Given the description of an element on the screen output the (x, y) to click on. 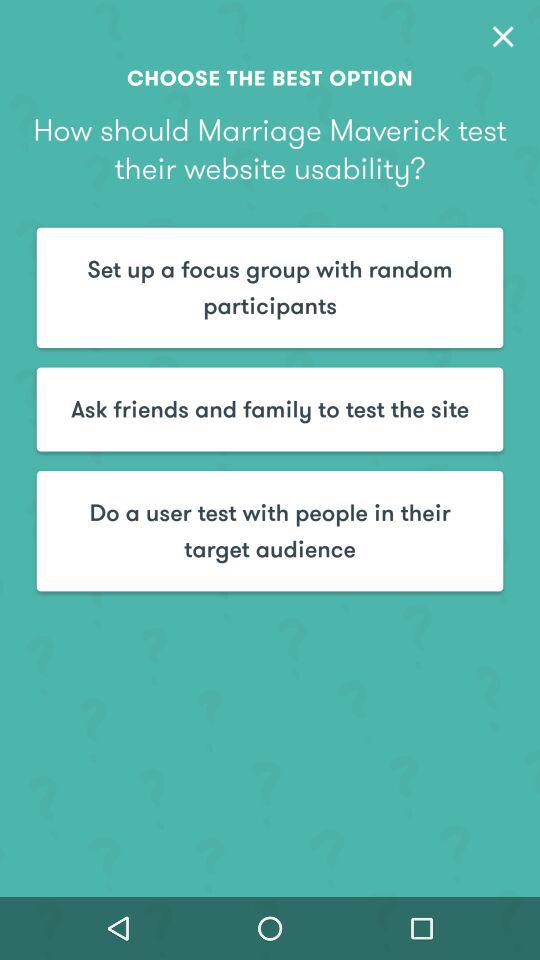
choose item at the top right corner (503, 36)
